Given the description of an element on the screen output the (x, y) to click on. 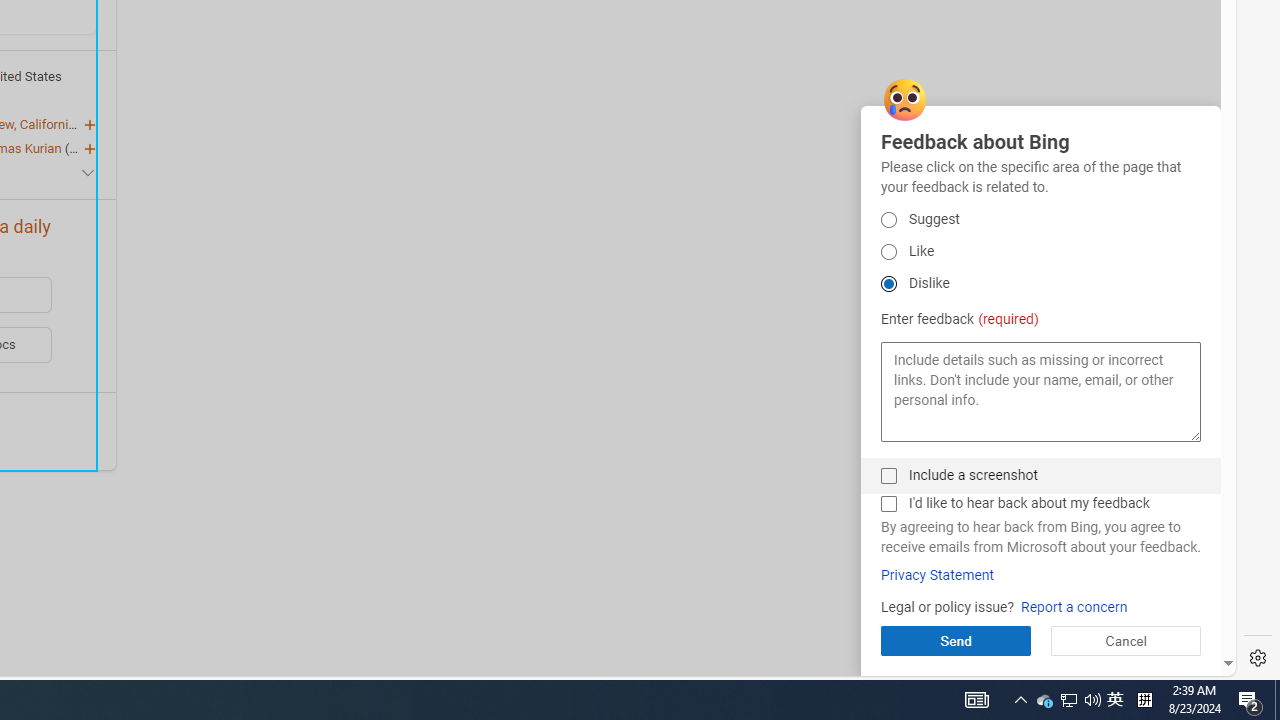
I'd like to hear back about my feedback (888, 503)
Send (955, 640)
Privacy Statement (937, 575)
Suggest (888, 219)
Include a screenshot (888, 475)
Report a concern (1074, 607)
Cancel (1125, 640)
